Given the description of an element on the screen output the (x, y) to click on. 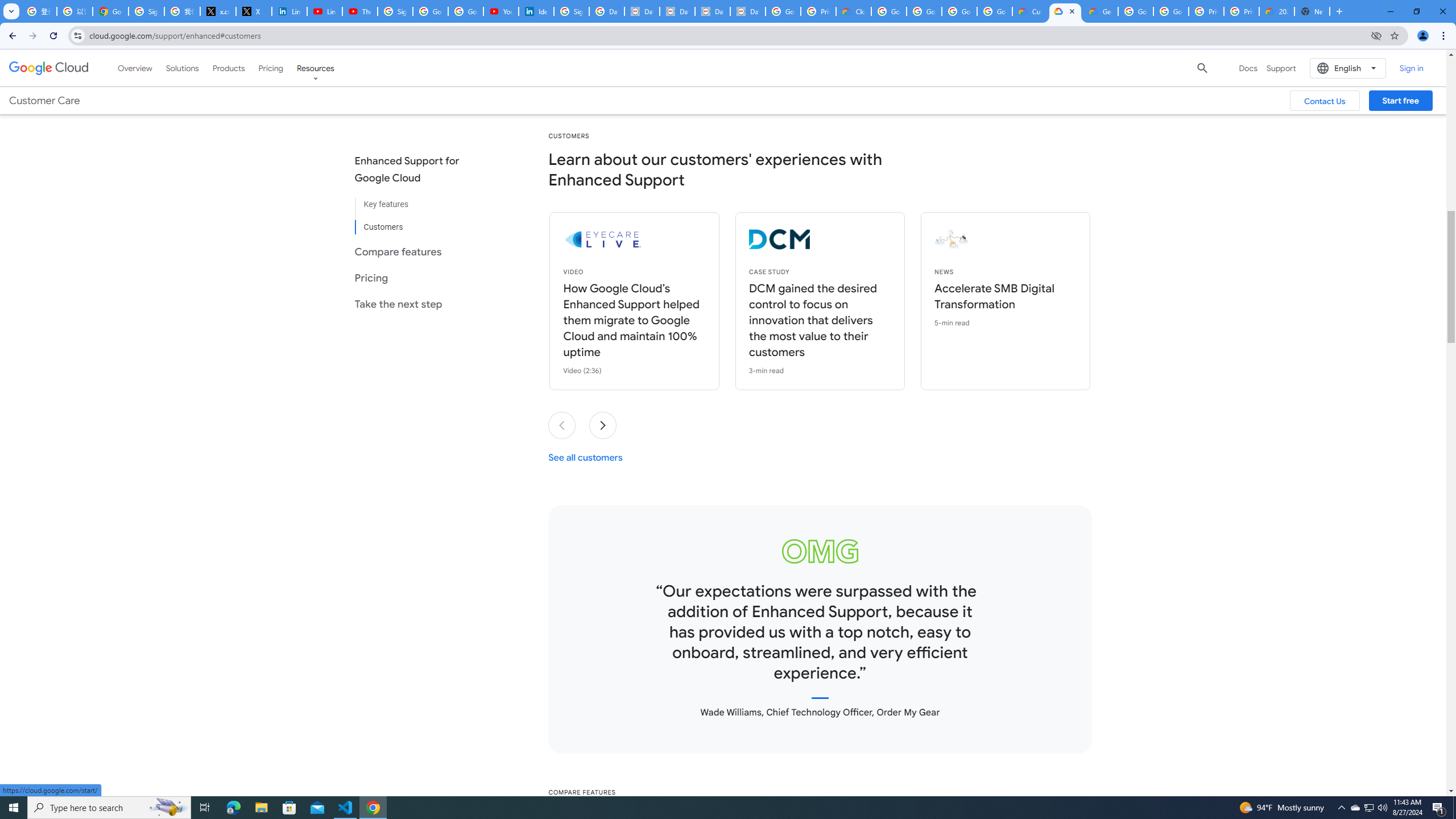
Google Cloud (48, 67)
Solutions (181, 67)
Resources (314, 67)
LinkedIn - YouTube (324, 11)
Purchasing and Signing up for Enhanced Support (668, 56)
See all customers (585, 456)
Next slide (603, 424)
Google Cloud Platform (1170, 11)
LinkedIn Privacy Policy (288, 11)
